Given the description of an element on the screen output the (x, y) to click on. 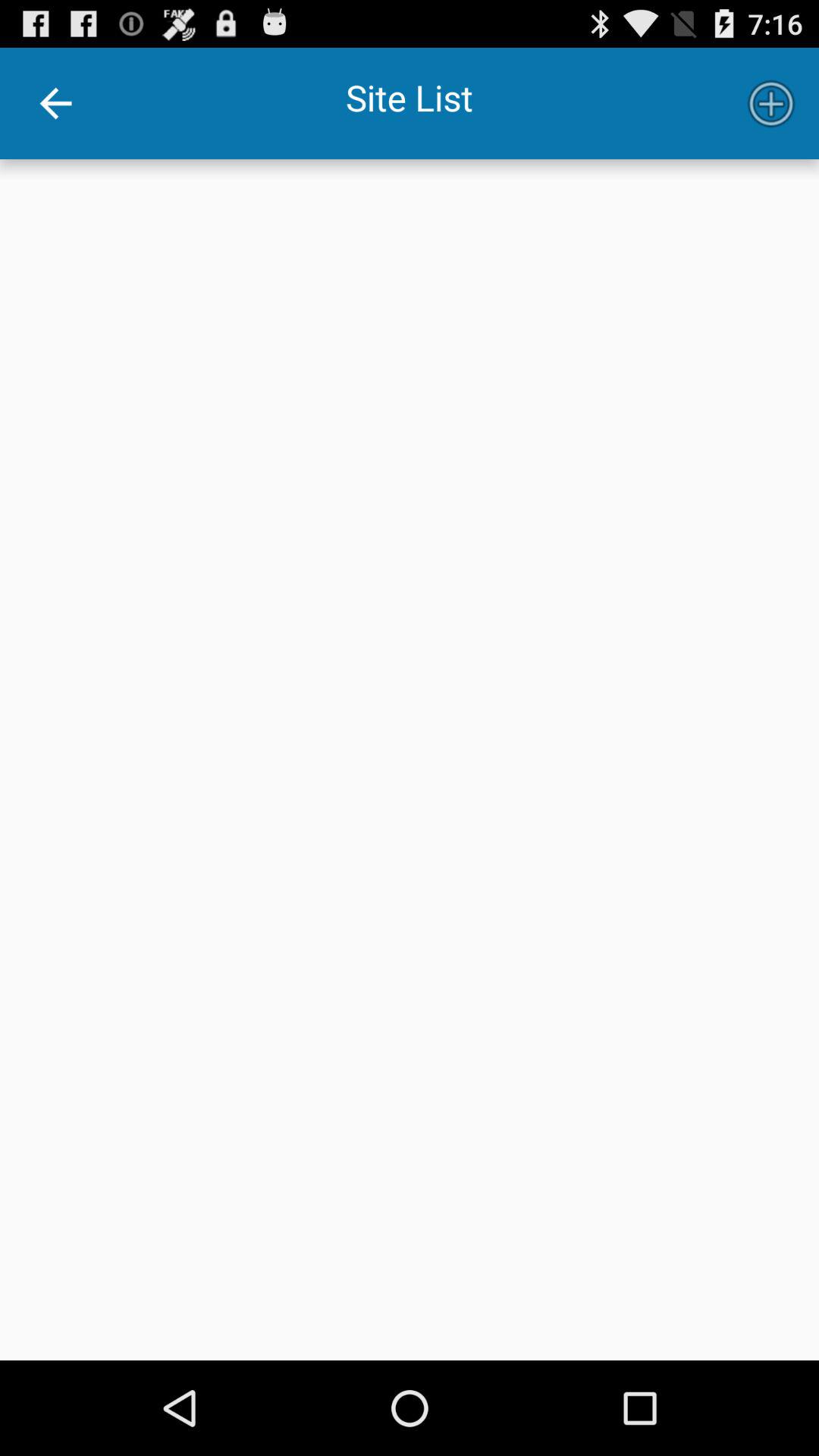
press icon next to site list icon (771, 103)
